Given the description of an element on the screen output the (x, y) to click on. 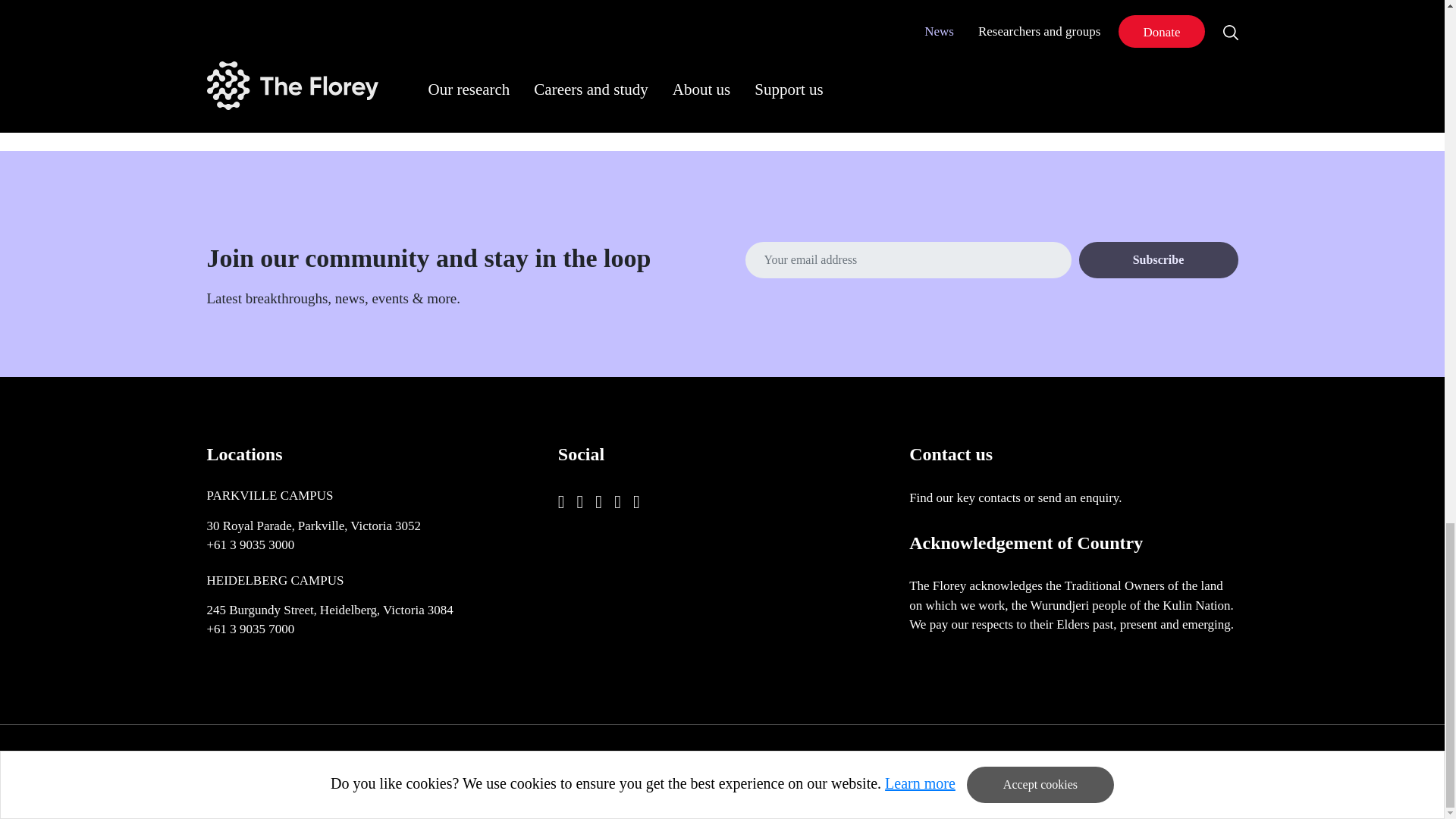
Visit Spark Digital website (1206, 771)
The Florey - Advancing Brain Research (272, 771)
